Given the description of an element on the screen output the (x, y) to click on. 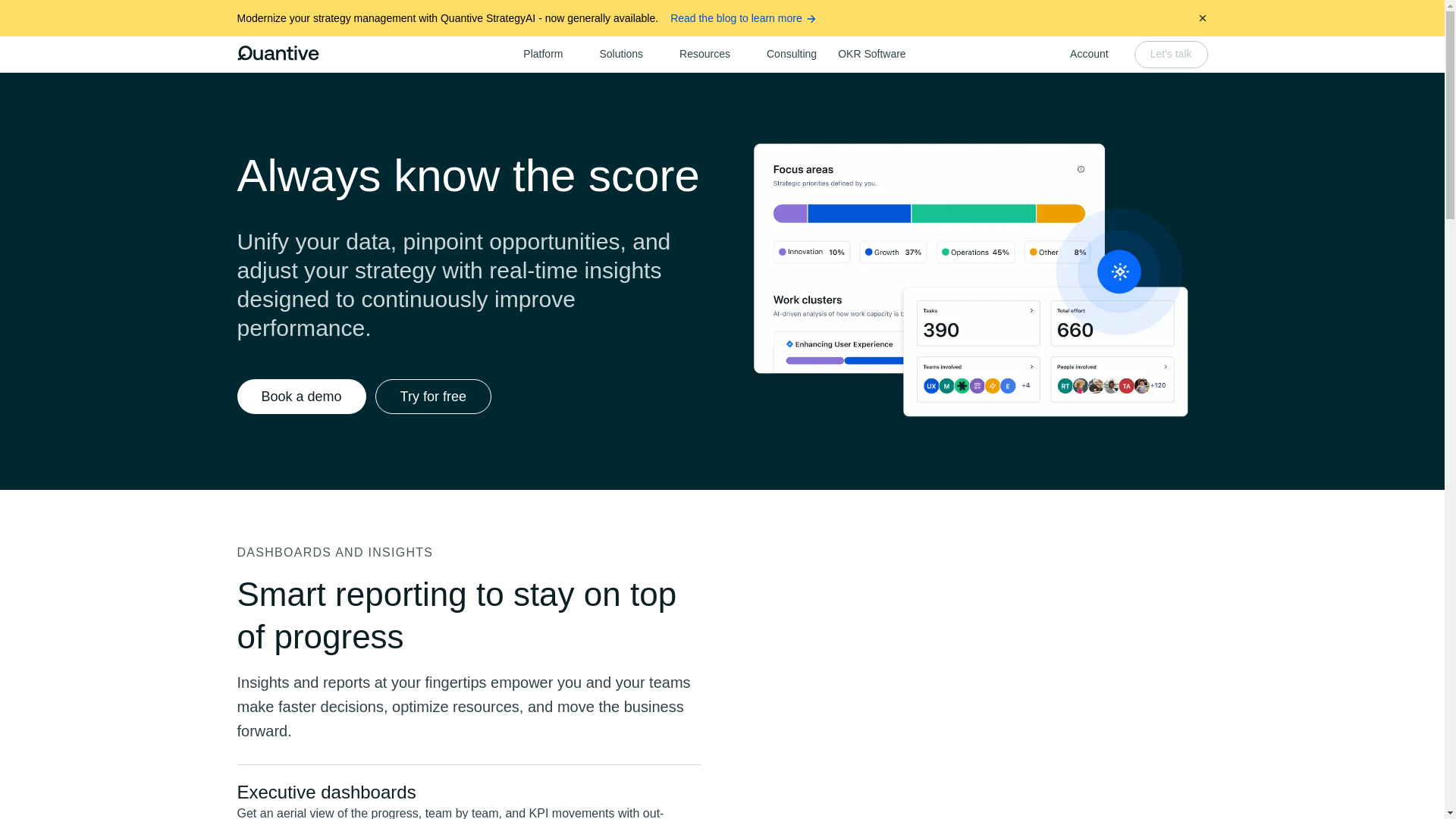
Let's talk (1171, 53)
Read the blog to learn more (742, 18)
Consulting (791, 54)
Account (1081, 54)
